Given the description of an element on the screen output the (x, y) to click on. 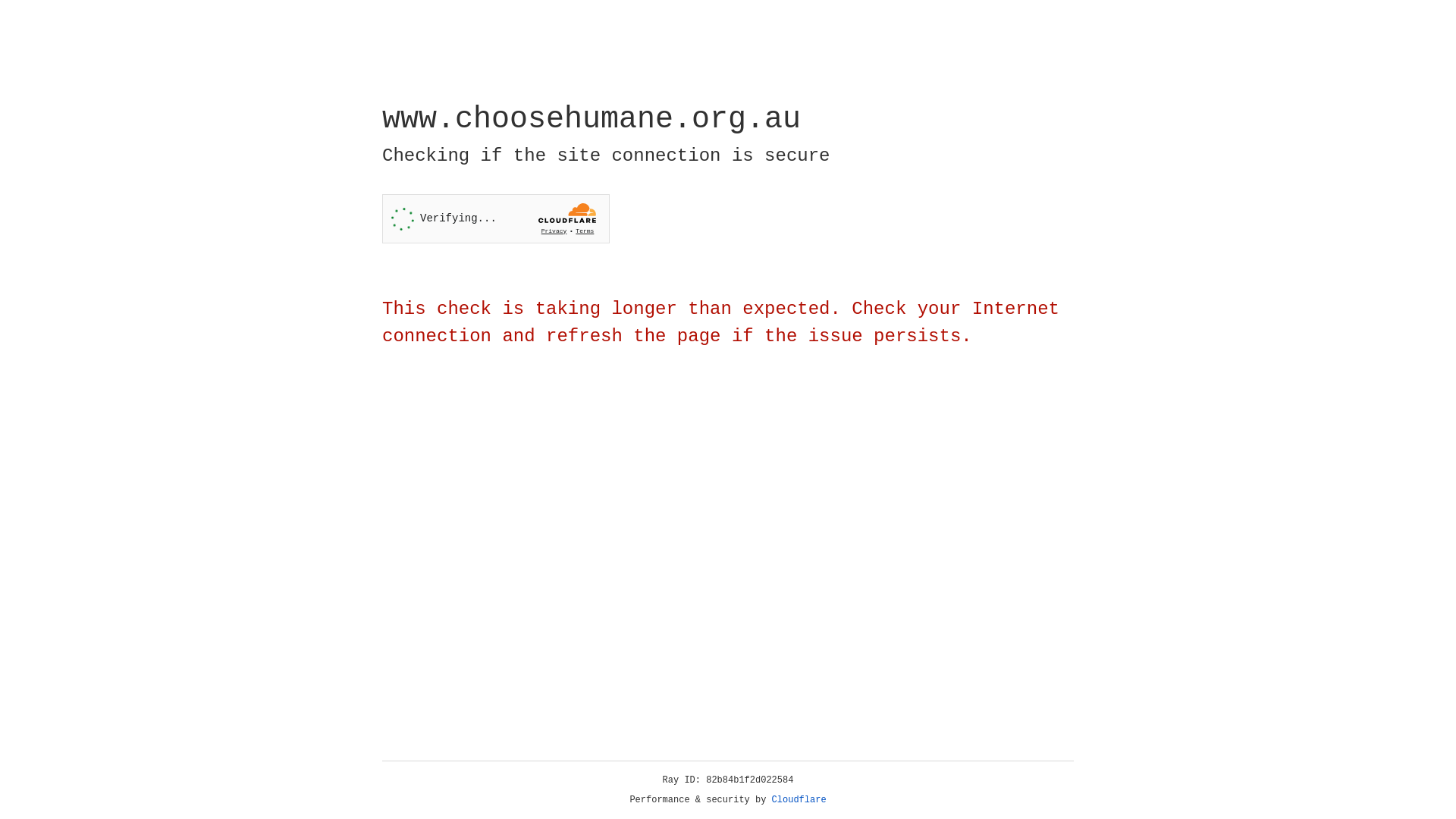
Widget containing a Cloudflare security challenge Element type: hover (495, 218)
Cloudflare Element type: text (798, 799)
